Given the description of an element on the screen output the (x, y) to click on. 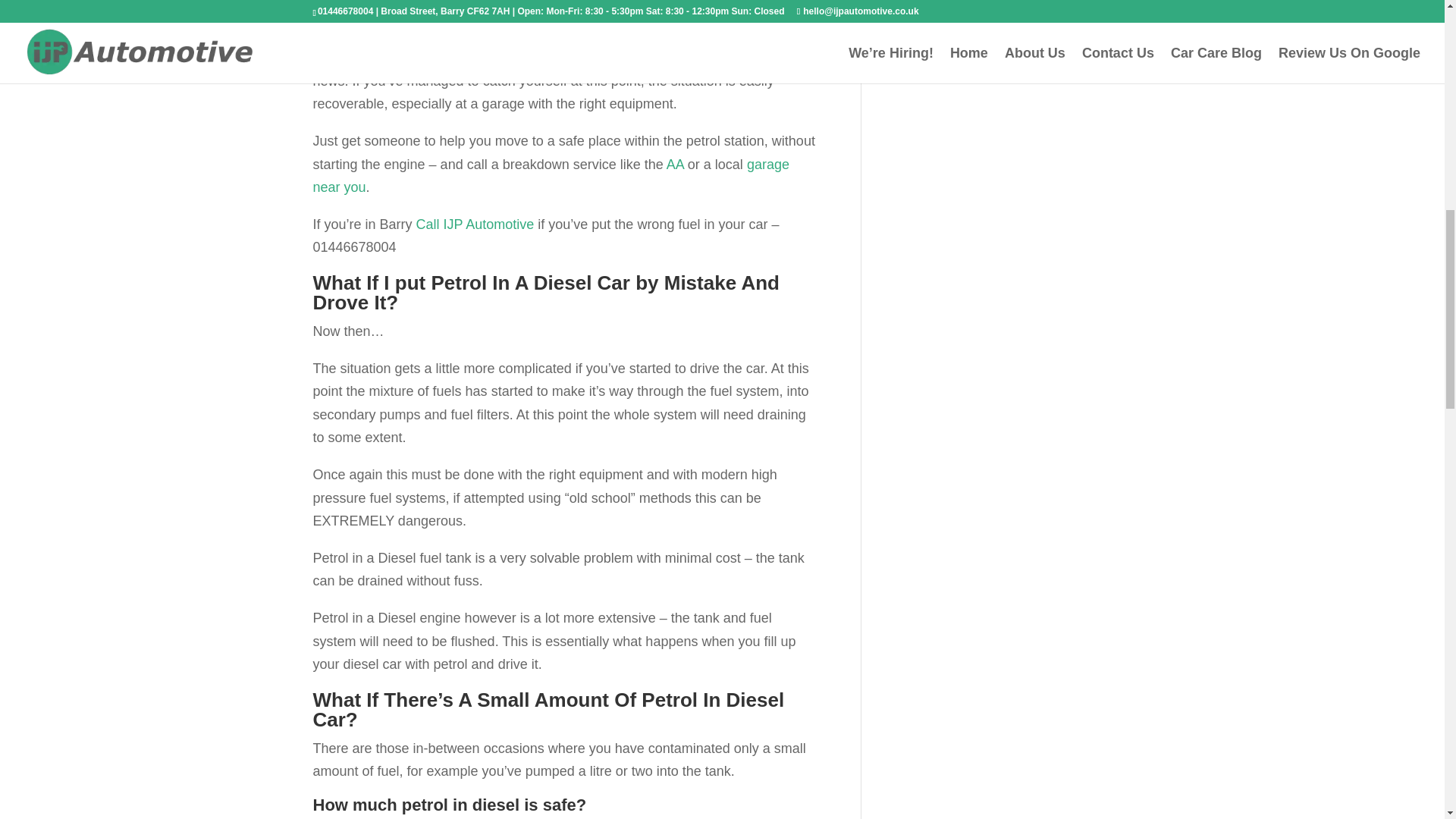
garage near you (551, 176)
Call IJP Automotive (475, 224)
AA (675, 164)
